Given the description of an element on the screen output the (x, y) to click on. 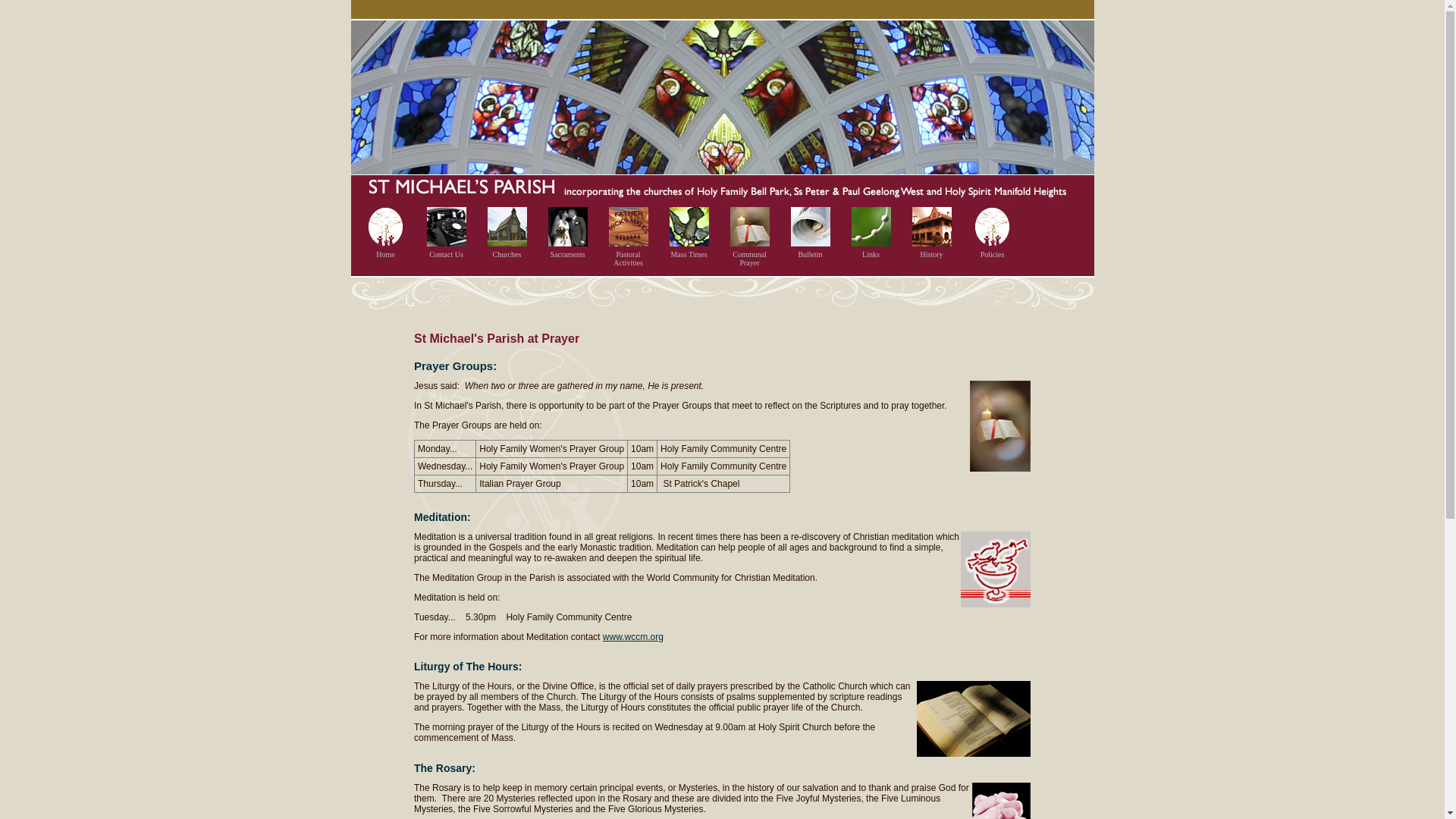
Image Element type: hover (995, 569)
Links Element type: text (870, 232)
Communal Prayer Element type: text (748, 236)
Churches Element type: text (506, 232)
Sacraments Element type: text (566, 232)
Contact Us Element type: text (445, 232)
Pastoral Activities Element type: text (627, 236)
Image Element type: hover (973, 718)
Image Element type: hover (999, 425)
www.wccm.org Element type: text (632, 636)
Bulletin Element type: text (809, 232)
Policies Element type: text (991, 232)
History Element type: text (930, 232)
Mass Times Element type: text (688, 232)
Home Element type: text (384, 232)
